Given the description of an element on the screen output the (x, y) to click on. 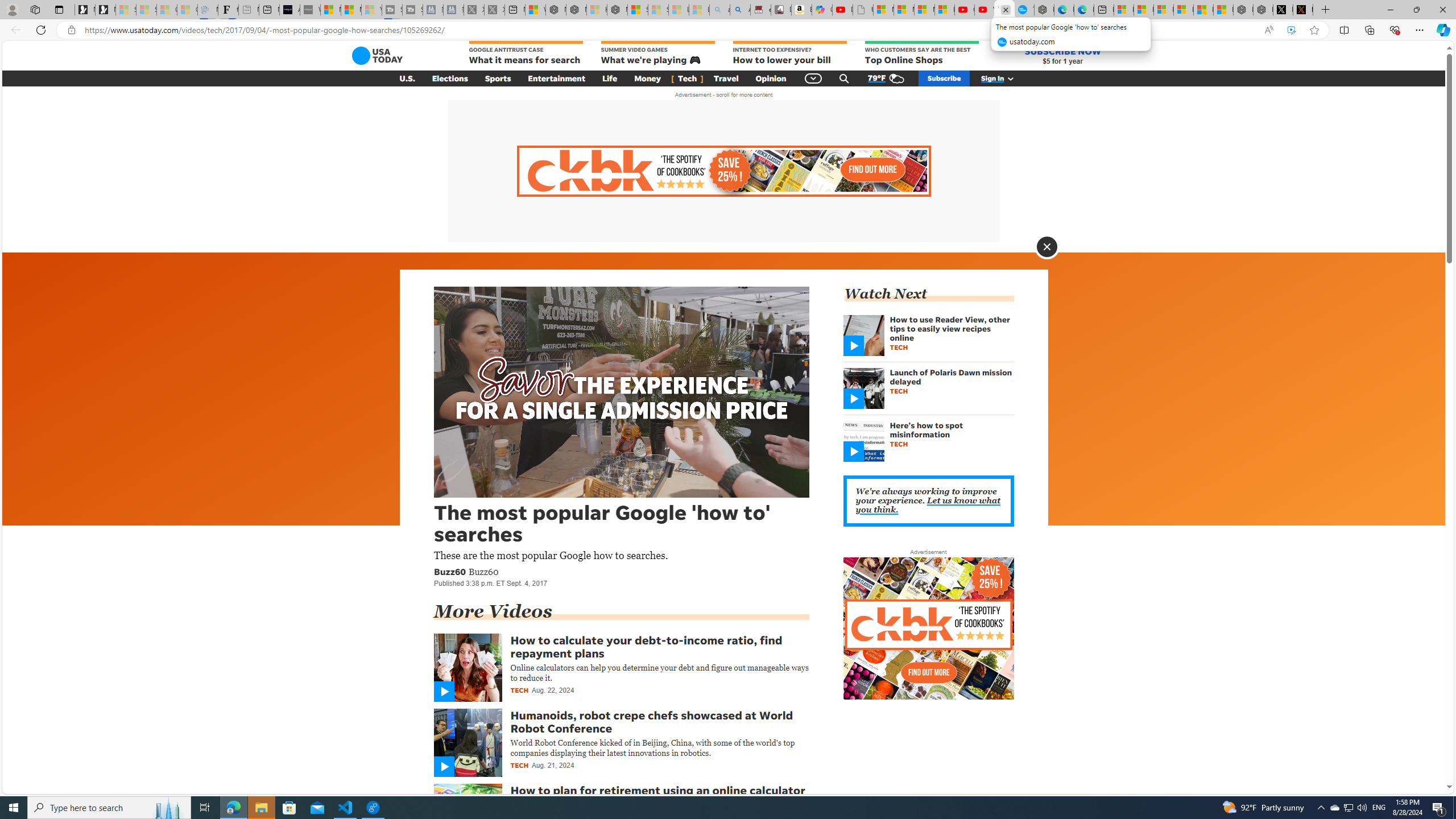
help.x.com | 524: A timeout occurred (1302, 9)
Launch of Polaris Dawn mission delayed TECH (928, 391)
GOOGLE ANTITRUST CASE What it means for search (525, 53)
Nordace - Nordace has arrived Hong Kong (1043, 9)
